Given the description of an element on the screen output the (x, y) to click on. 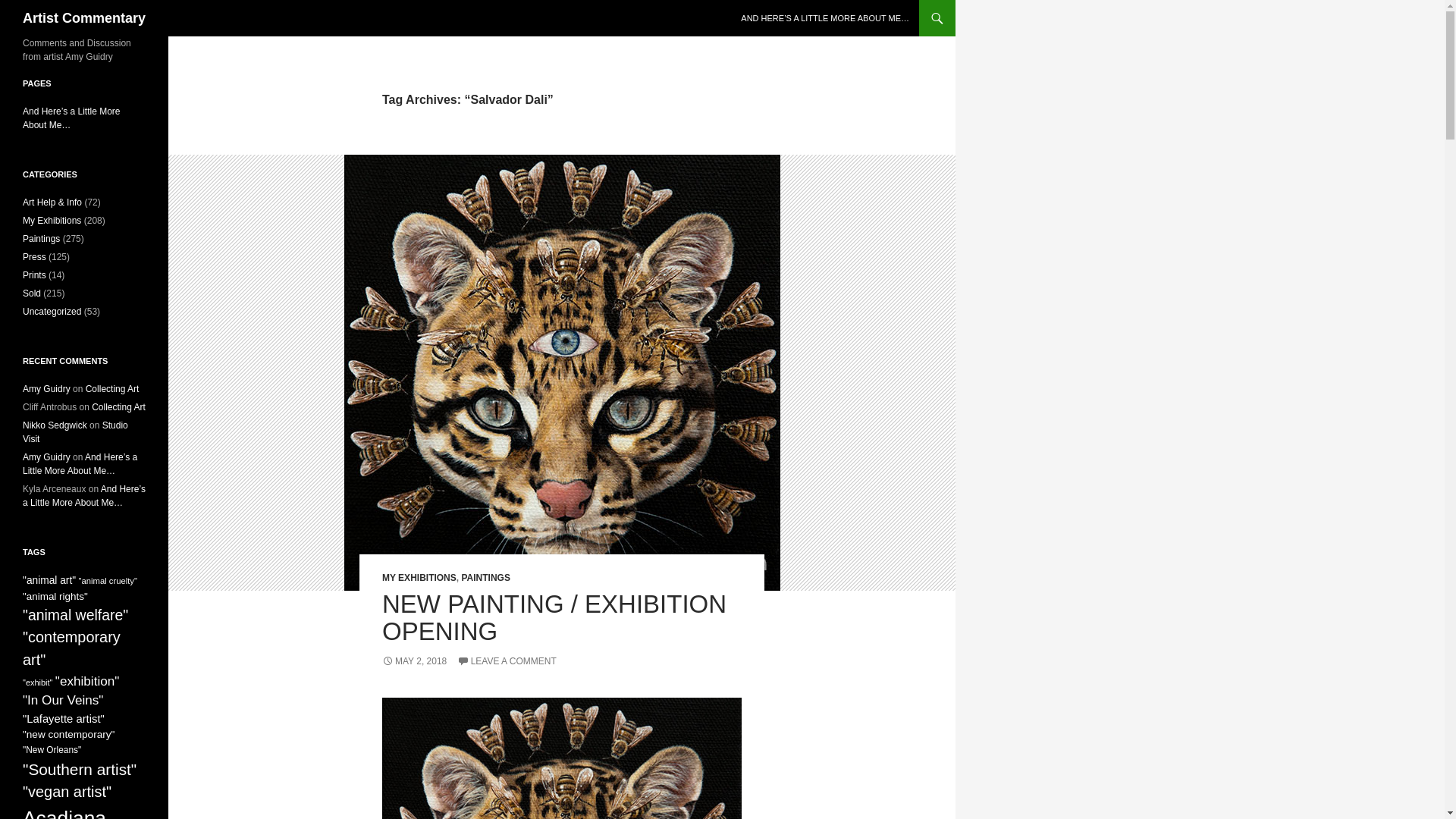
PAINTINGS (485, 577)
LEAVE A COMMENT (506, 661)
Artist Commentary (84, 18)
MY EXHIBITIONS (419, 577)
MAY 2, 2018 (413, 661)
